Given the description of an element on the screen output the (x, y) to click on. 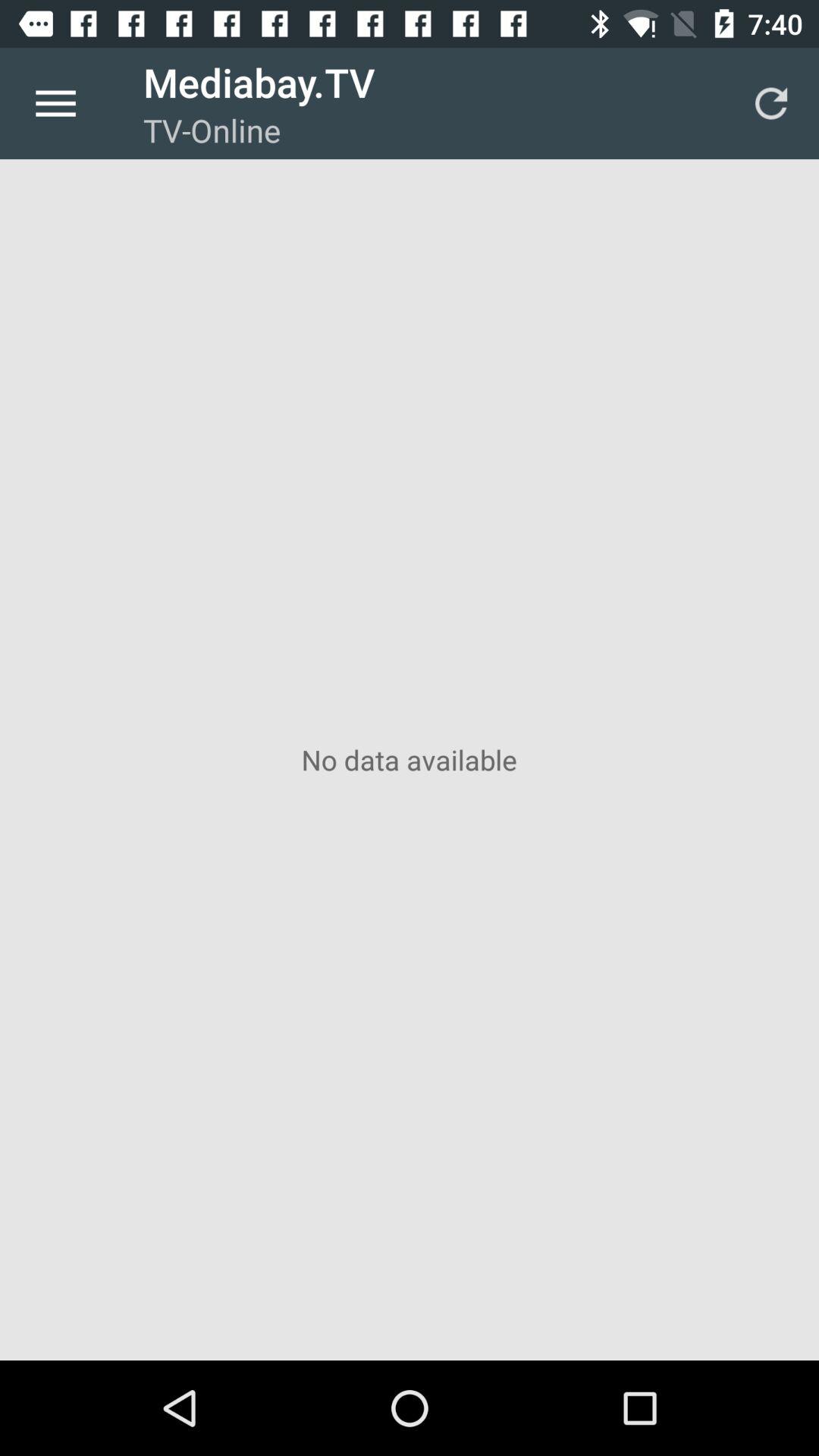
turn off icon to the left of the mediabay.tv (55, 103)
